Given the description of an element on the screen output the (x, y) to click on. 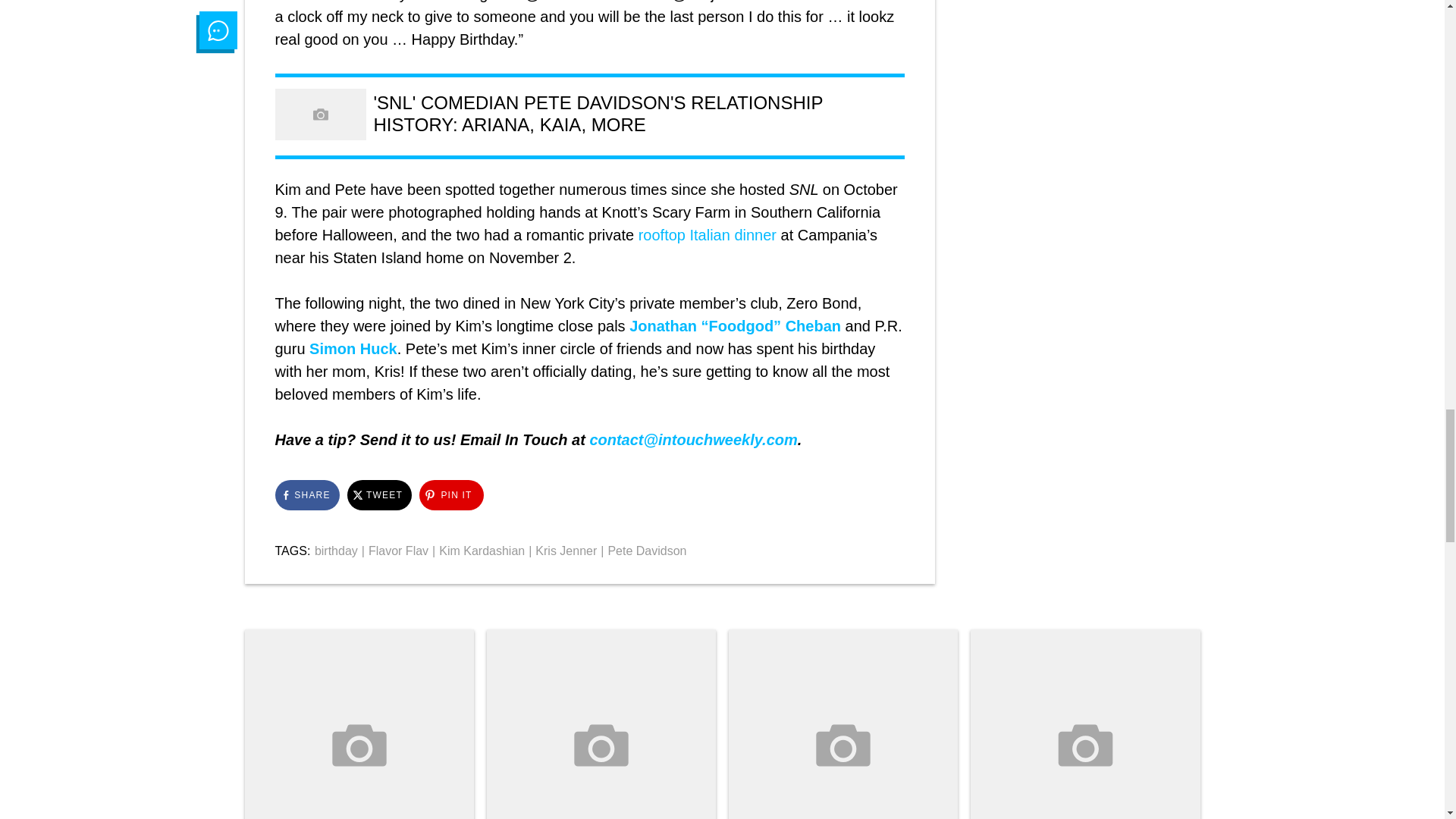
Click to share on Twitter (379, 494)
Click to share on Pinterest (451, 494)
Click to share on Facebook (307, 494)
